Given the description of an element on the screen output the (x, y) to click on. 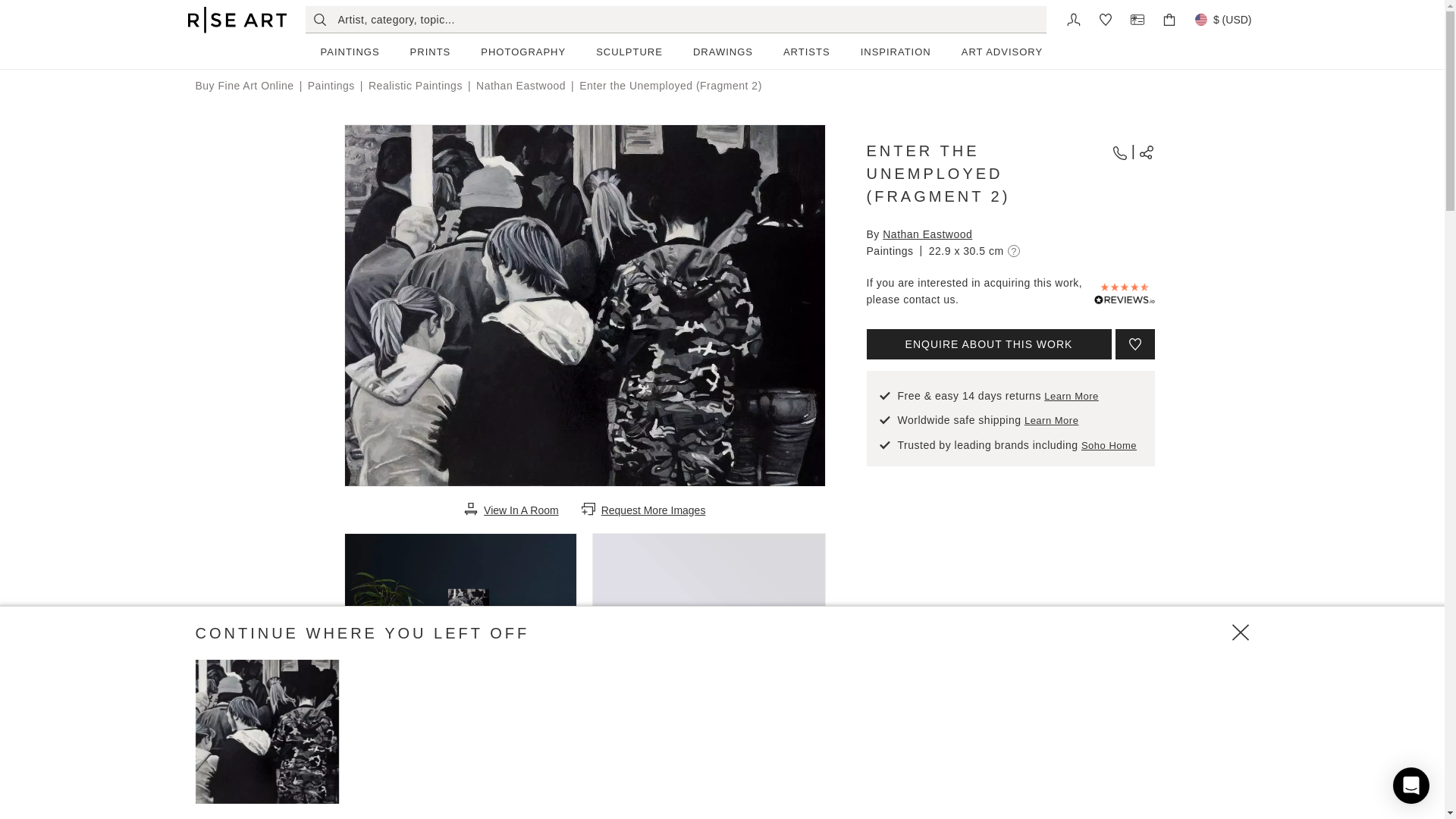
Basket (1168, 18)
PHOTOGRAPHY (522, 51)
Gift Card (1137, 18)
My Wishlist (1105, 18)
SCULPTURE (629, 51)
Paintings (349, 51)
PAINTINGS (349, 51)
PRINTS (429, 51)
